Given the description of an element on the screen output the (x, y) to click on. 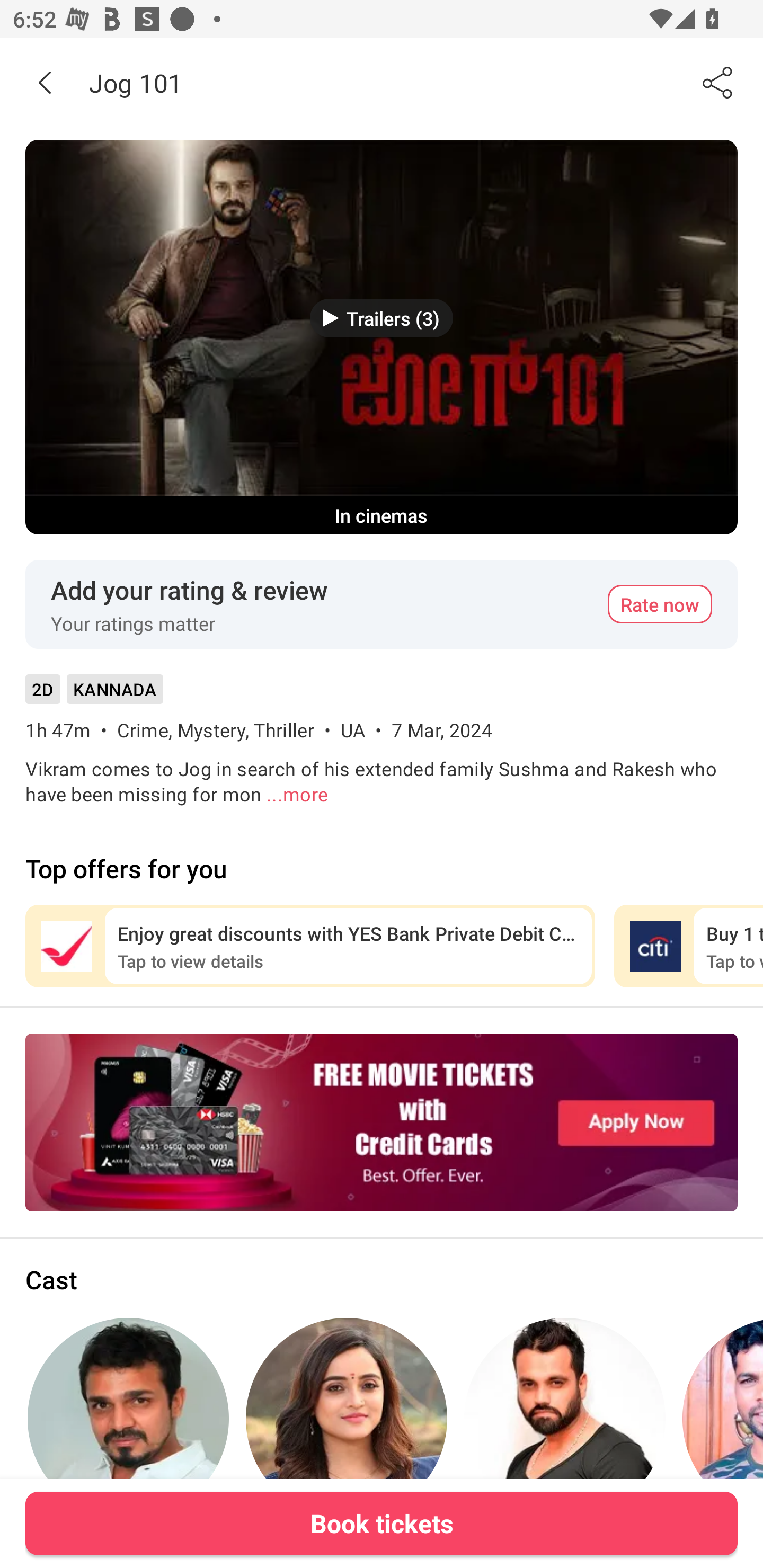
Back (44, 82)
Share (718, 82)
Movie Banner Trailers (3) In cinemas (381, 336)
Trailers (3) (381, 318)
Rate now (659, 604)
2D KANNADA (94, 695)
Book tickets (381, 1523)
